Given the description of an element on the screen output the (x, y) to click on. 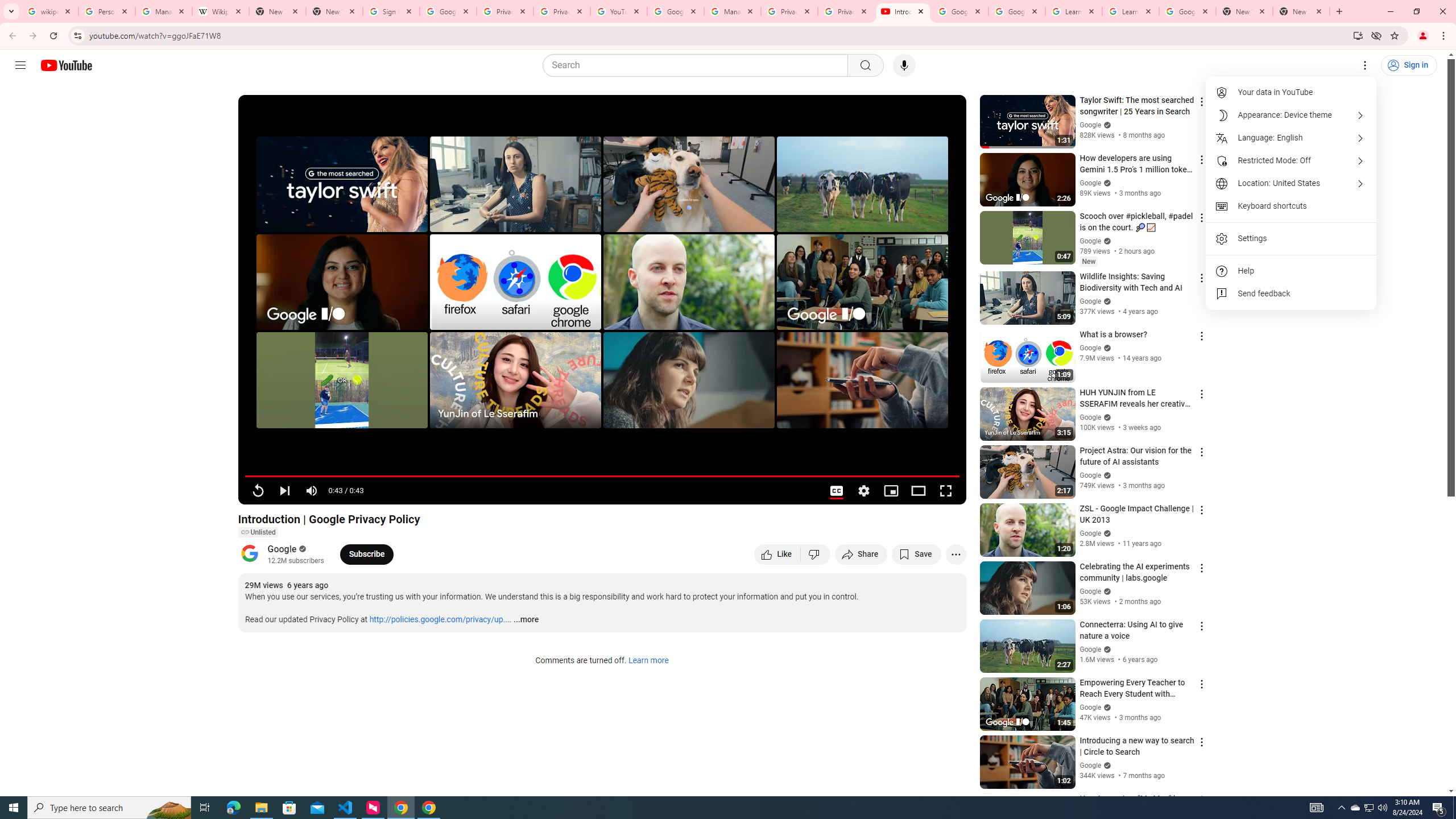
Location: United States (1291, 182)
...more (525, 620)
Subscribe to Google. (366, 554)
Unlisted (257, 532)
Your data in YouTube (1291, 92)
Like (777, 554)
Miniplayer (i) (890, 490)
Personalization & Google Search results - Google Search Help (105, 11)
